Given the description of an element on the screen output the (x, y) to click on. 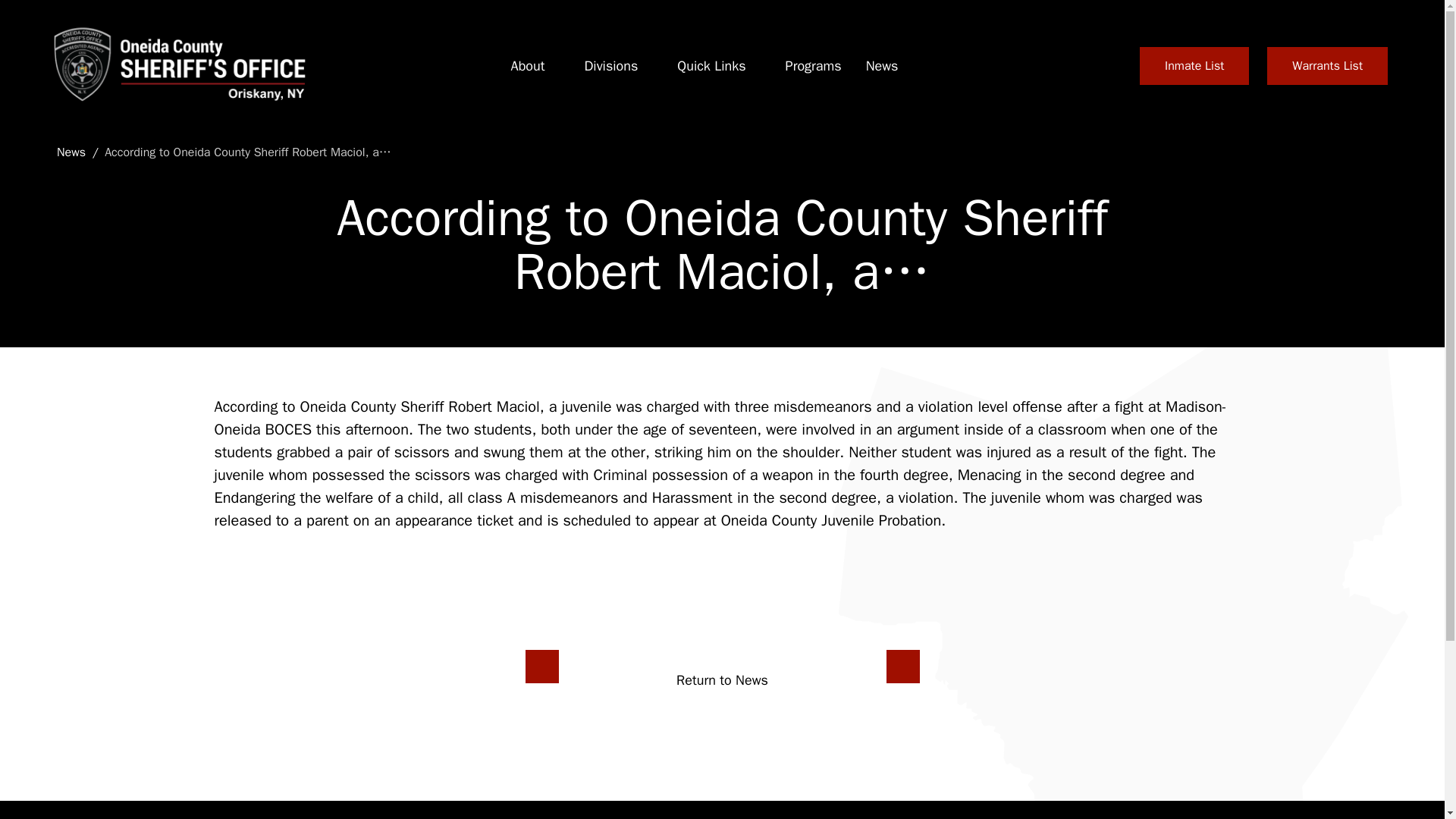
Programs (813, 65)
About (527, 65)
About (527, 65)
Divisions (610, 65)
Open search form (1102, 65)
News (882, 65)
Quick Links (711, 65)
Divisions (610, 65)
Warrants List (1326, 65)
Oneida County Sheriff's Office (177, 65)
Quick Links (711, 65)
Inmate List (1194, 65)
